Given the description of an element on the screen output the (x, y) to click on. 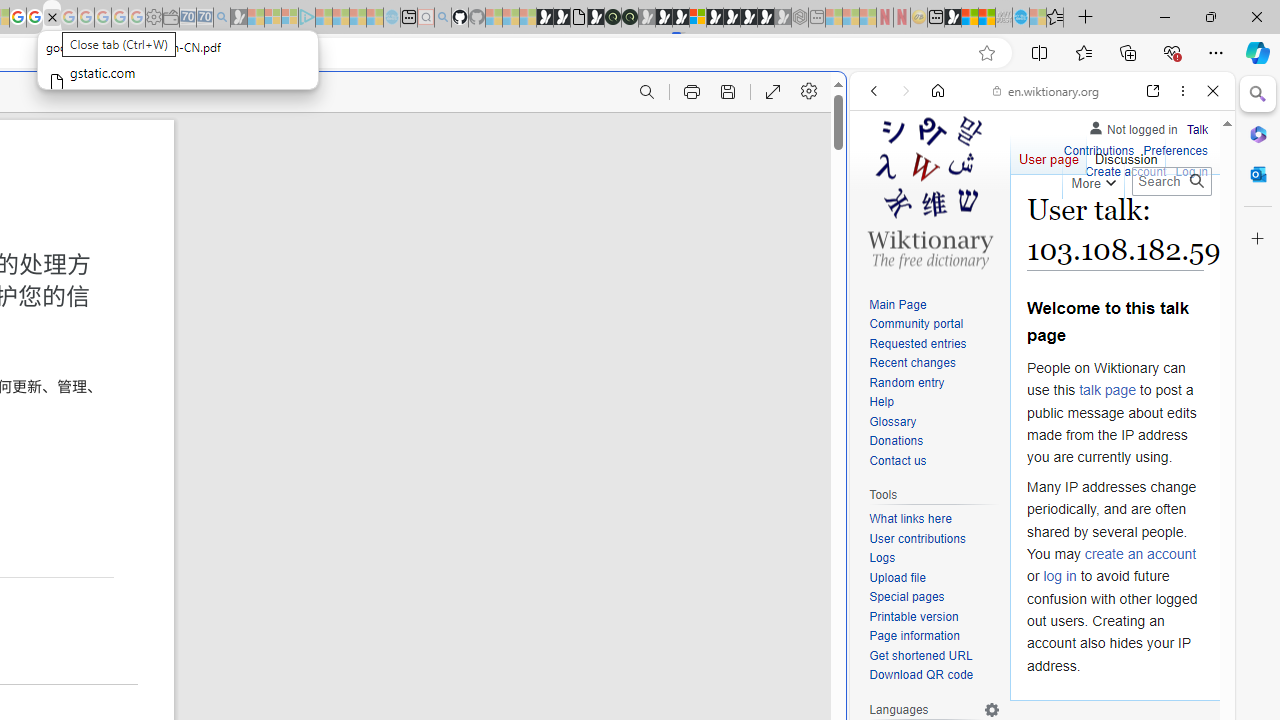
Special pages (906, 596)
Navy Quest (1003, 17)
Glossary (892, 421)
VIDEOS (1006, 228)
create an account (1140, 553)
What links here (910, 519)
User page (1048, 154)
en.wiktionary.org (1046, 90)
Discussion (1125, 154)
Search or enter web address (343, 191)
Frequently visited (418, 265)
Search Wiktionary (1171, 181)
